Given the description of an element on the screen output the (x, y) to click on. 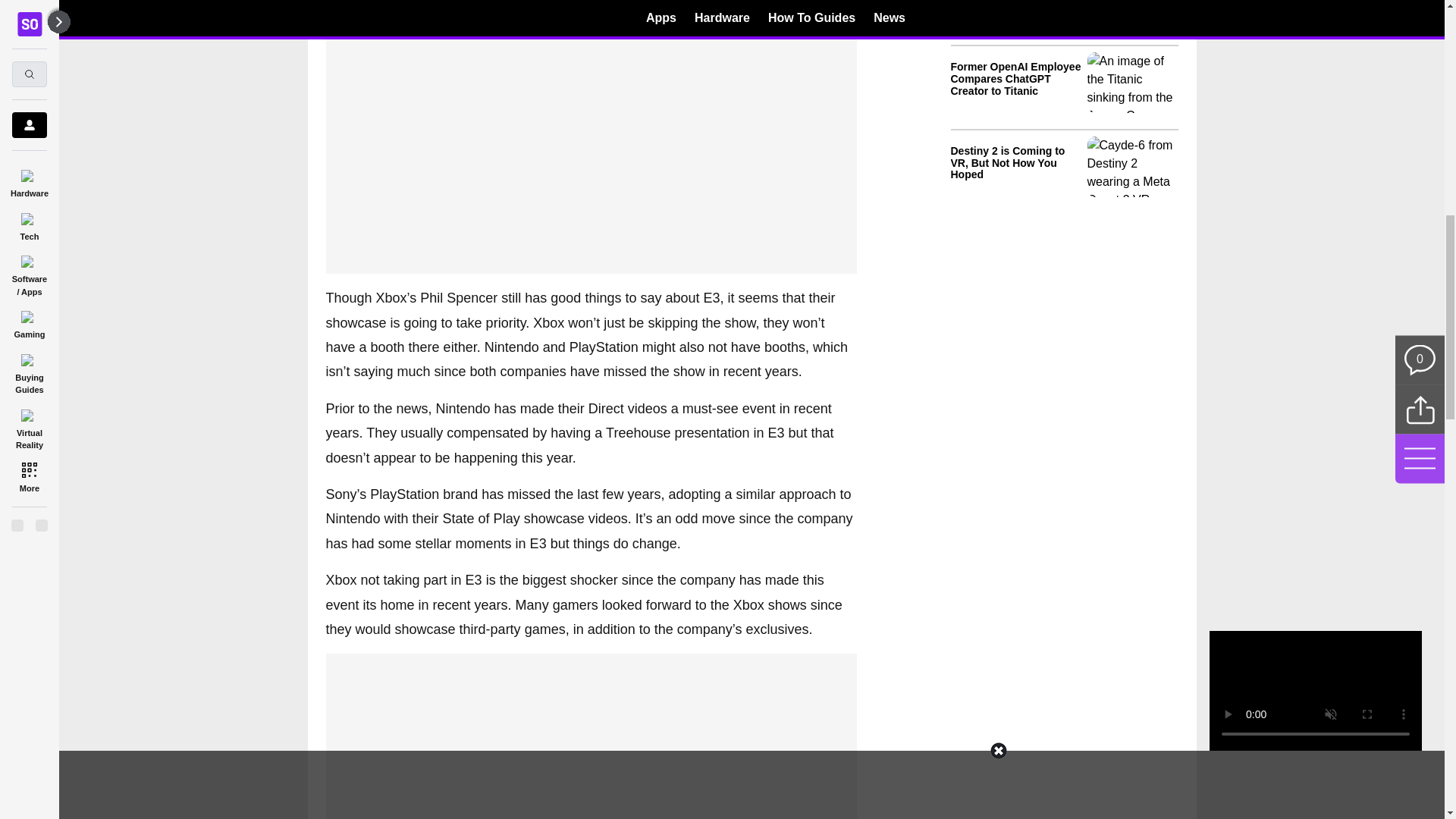
3rd party ad content (590, 64)
